Given the description of an element on the screen output the (x, y) to click on. 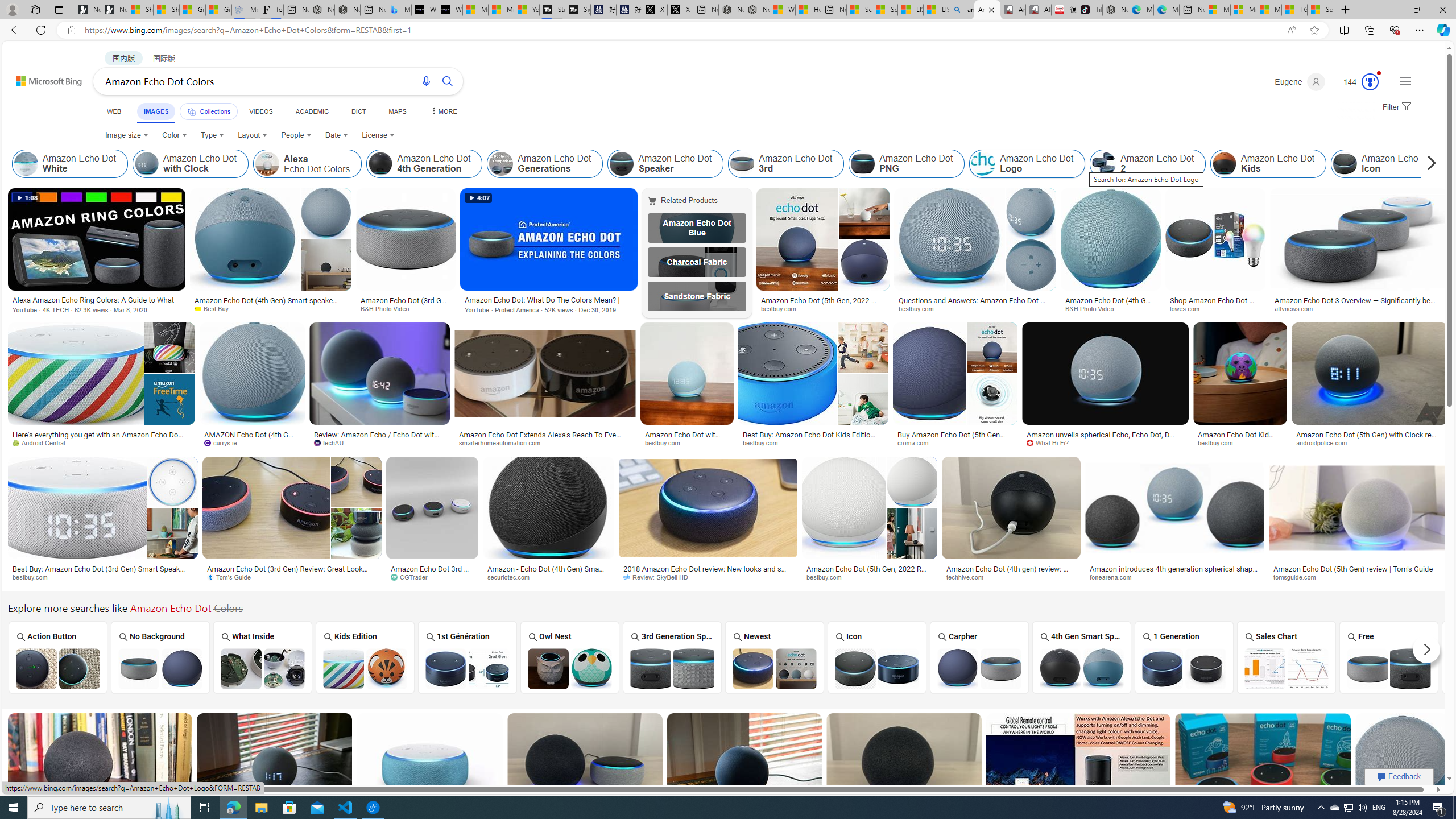
Newest (774, 656)
WEB (114, 111)
Amazon Echo Dot Action Button (57, 668)
techAU (379, 442)
Amazon Echo Dot Generations (501, 163)
